Given the description of an element on the screen output the (x, y) to click on. 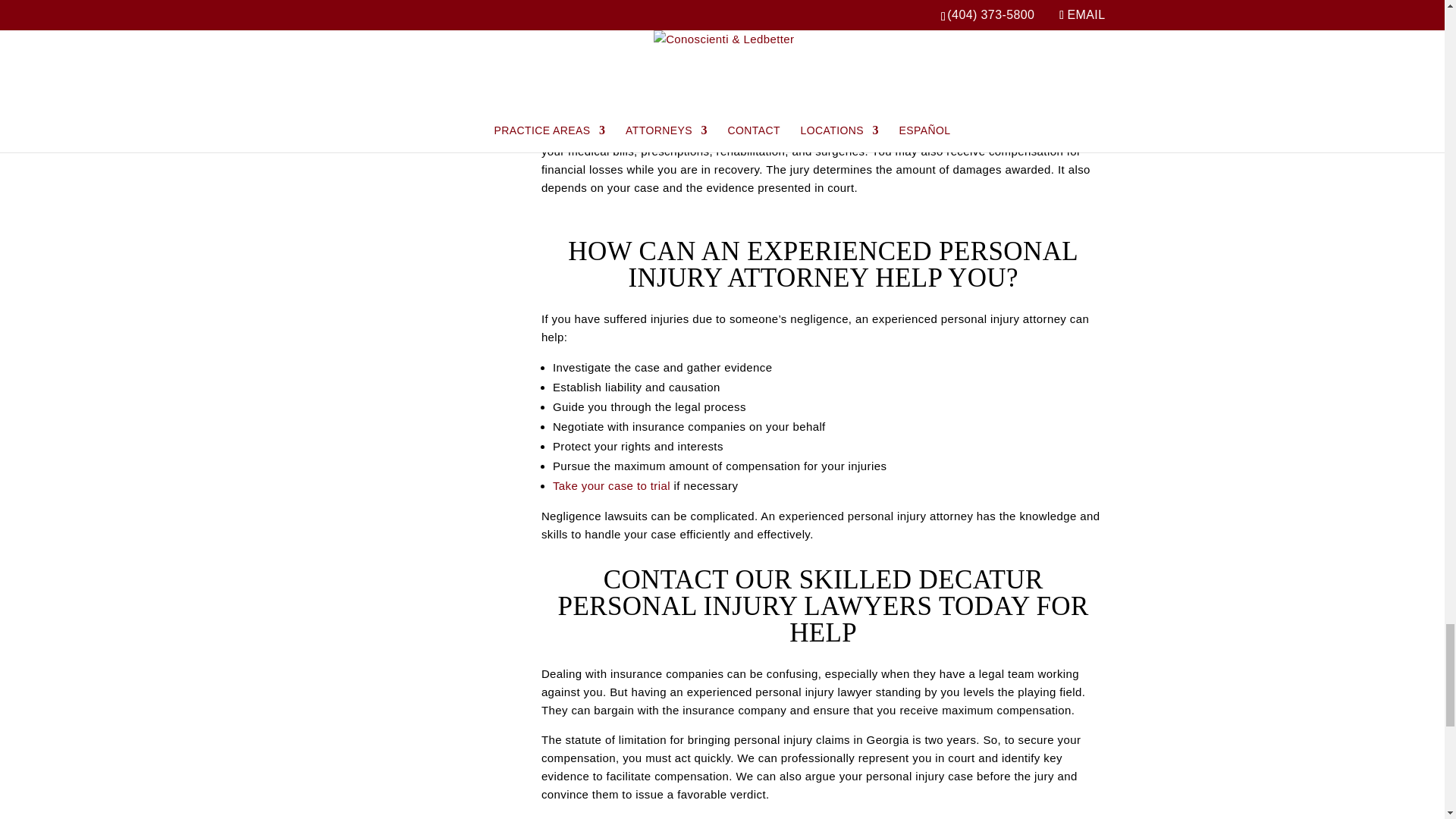
What Type of Damages Can You Recover (419, 4)
